Given the description of an element on the screen output the (x, y) to click on. 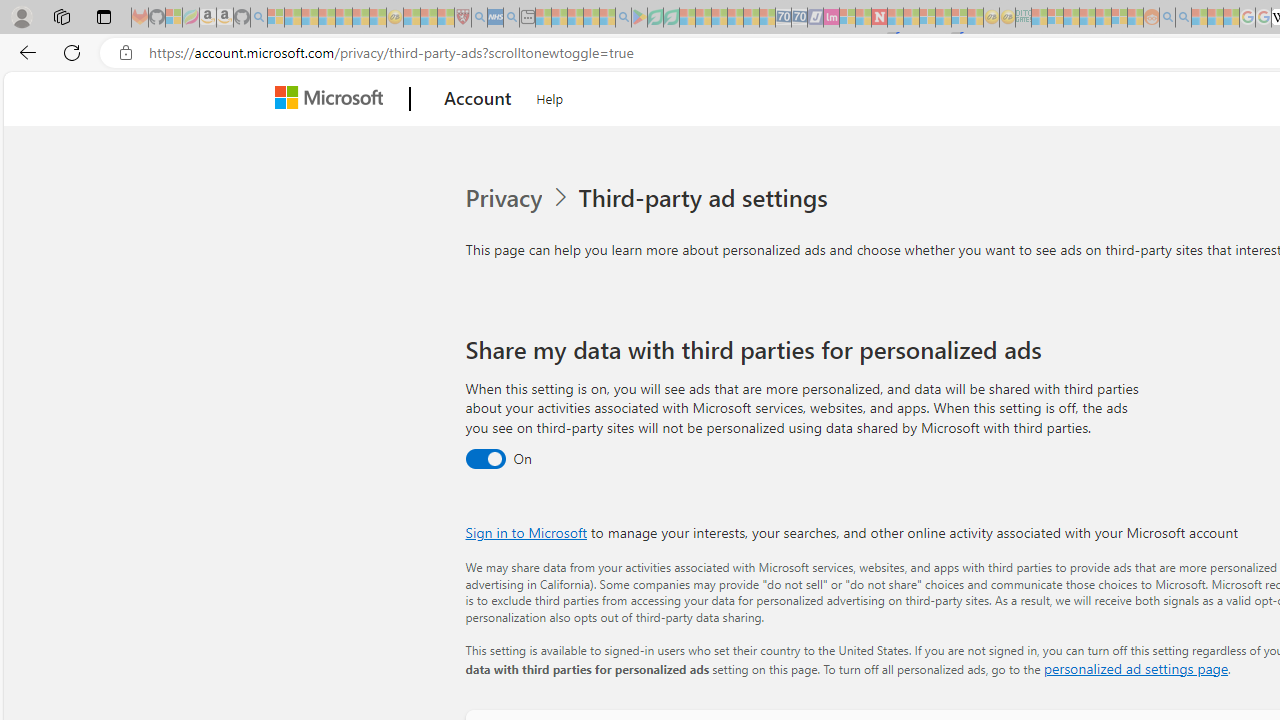
14 Common Myths Debunked By Scientific Facts - Sleeping (911, 17)
personalized ad settings page (1135, 668)
Help (550, 96)
